Given the description of an element on the screen output the (x, y) to click on. 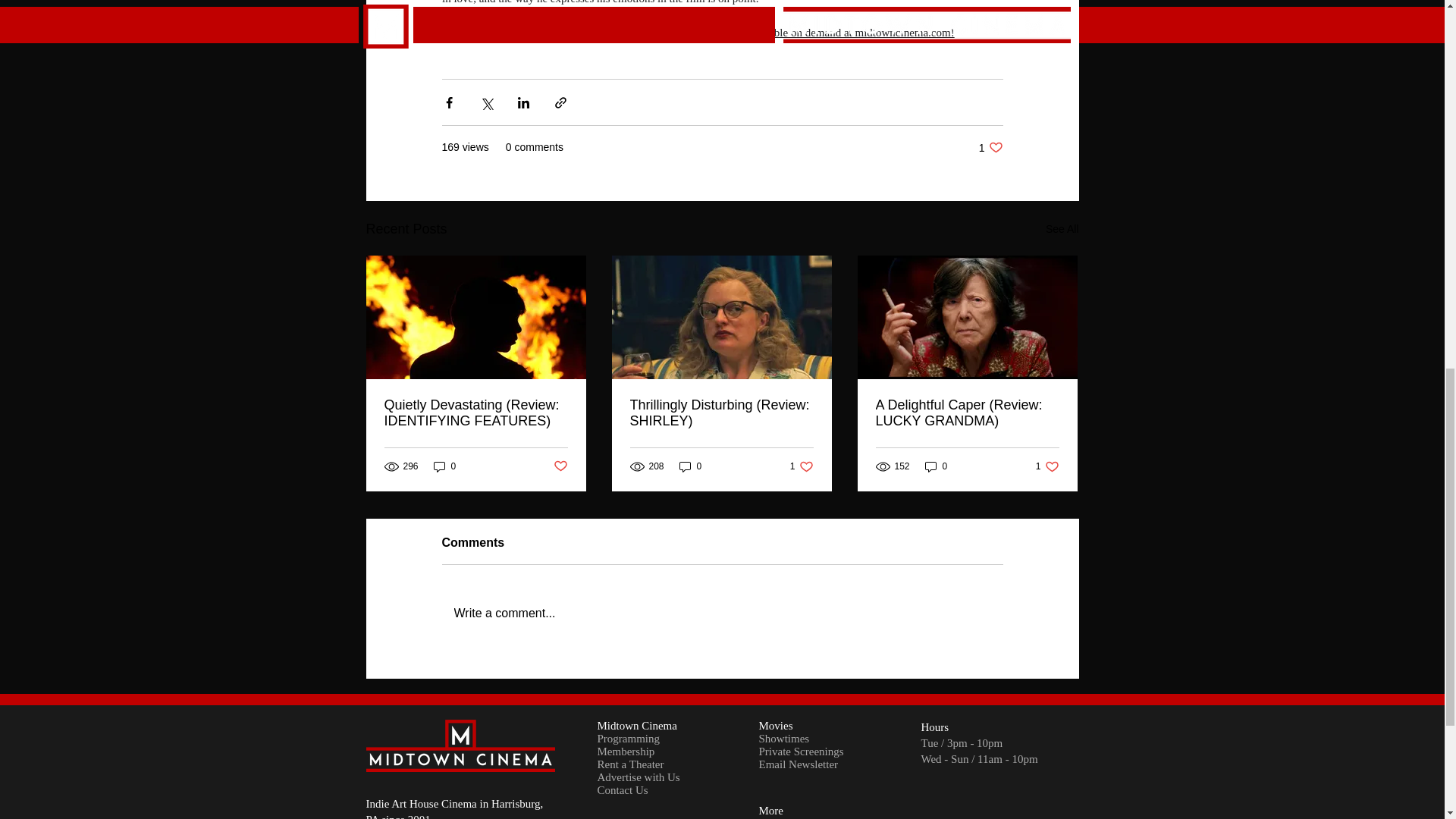
0 (990, 147)
0 (936, 466)
Post not marked as liked (801, 466)
See All (445, 466)
Write a comment... (560, 466)
0 (1061, 229)
The film is now available on demand at midtowncinema.com! (722, 613)
